Given the description of an element on the screen output the (x, y) to click on. 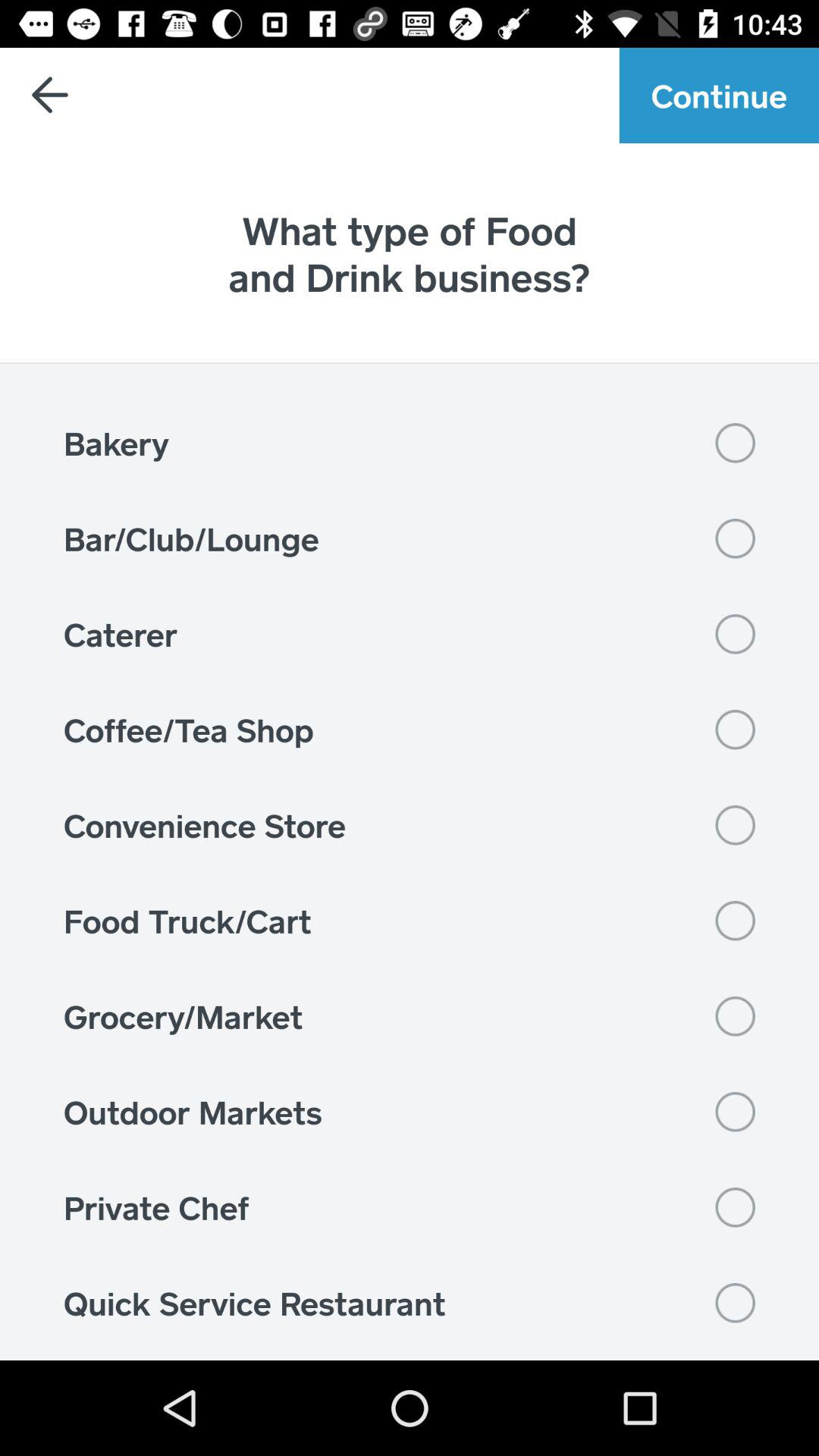
turn off item below convenience store (409, 920)
